Given the description of an element on the screen output the (x, y) to click on. 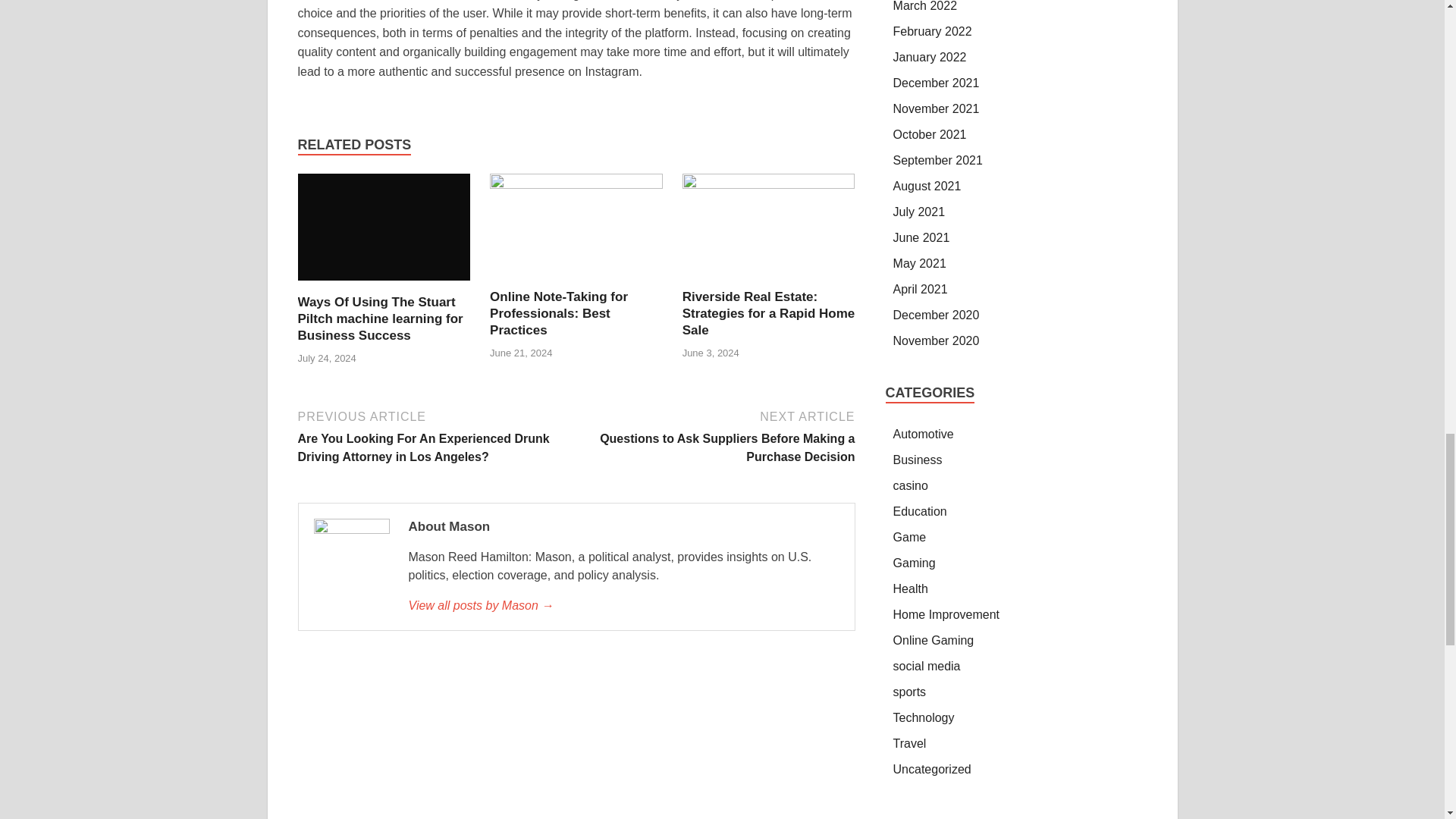
Riverside Real Estate: Strategies for a Rapid Home Sale (769, 313)
Riverside Real Estate: Strategies for a Rapid Home Sale (769, 313)
Mason (622, 606)
Online Note-Taking for Professionals: Best Practices (575, 184)
Riverside Real Estate: Strategies for a Rapid Home Sale (769, 184)
Online Note-Taking for Professionals: Best Practices (558, 313)
Online Note-Taking for Professionals: Best Practices (558, 313)
